Given the description of an element on the screen output the (x, y) to click on. 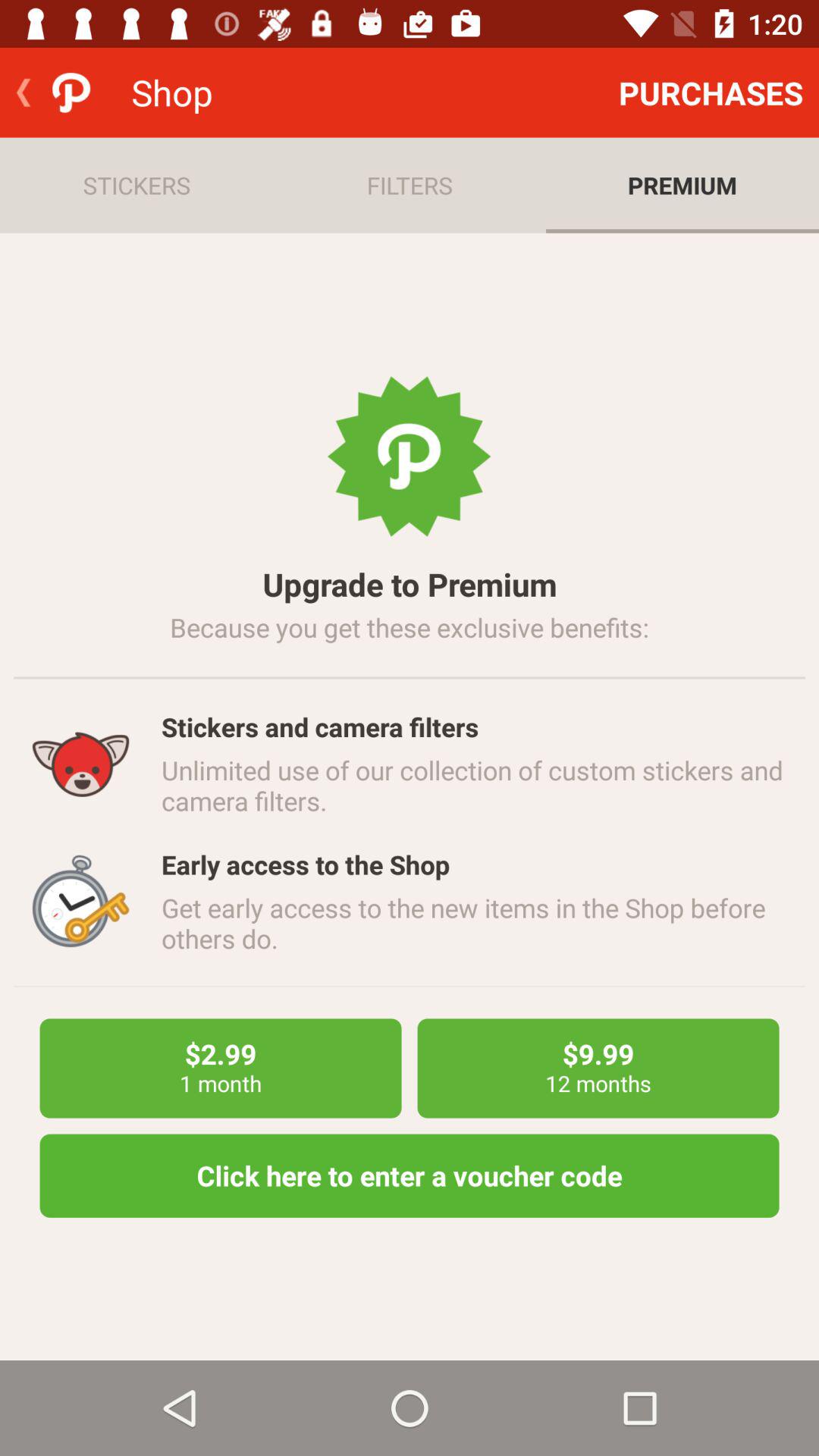
jump until purchases item (710, 92)
